Given the description of an element on the screen output the (x, y) to click on. 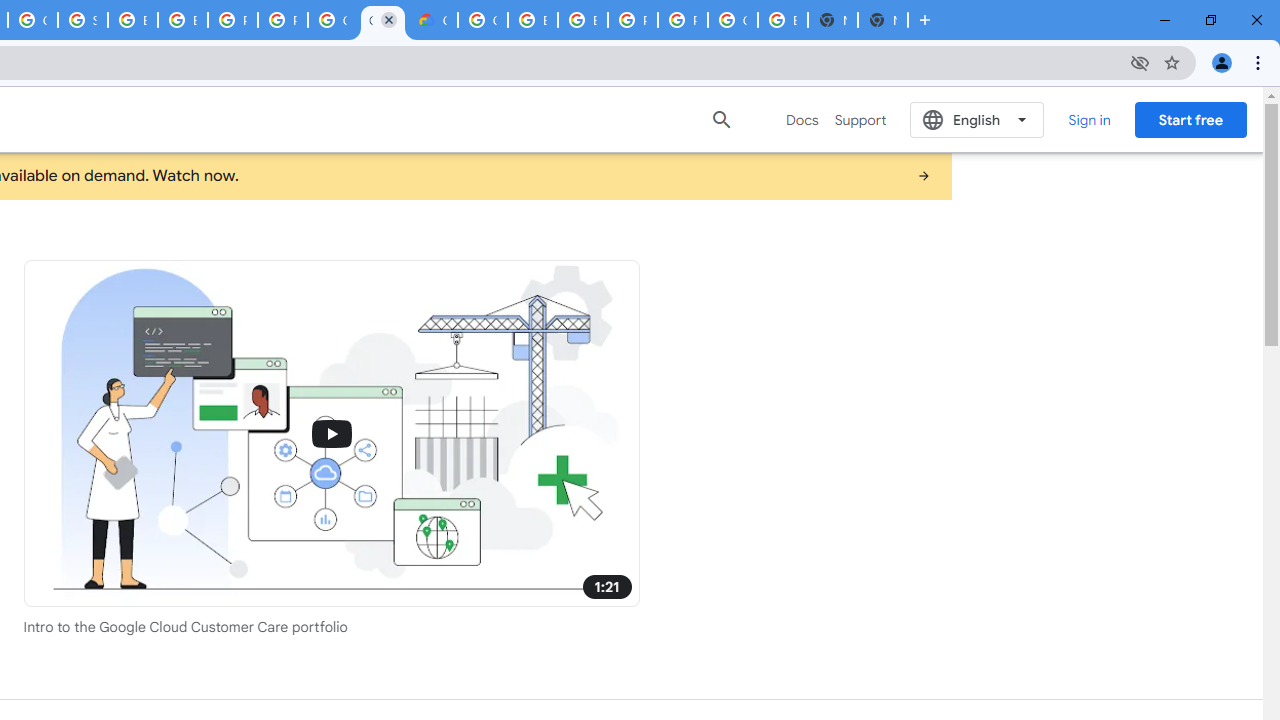
Browse Chrome as a guest - Computer - Google Chrome Help (533, 20)
